Given the description of an element on the screen output the (x, y) to click on. 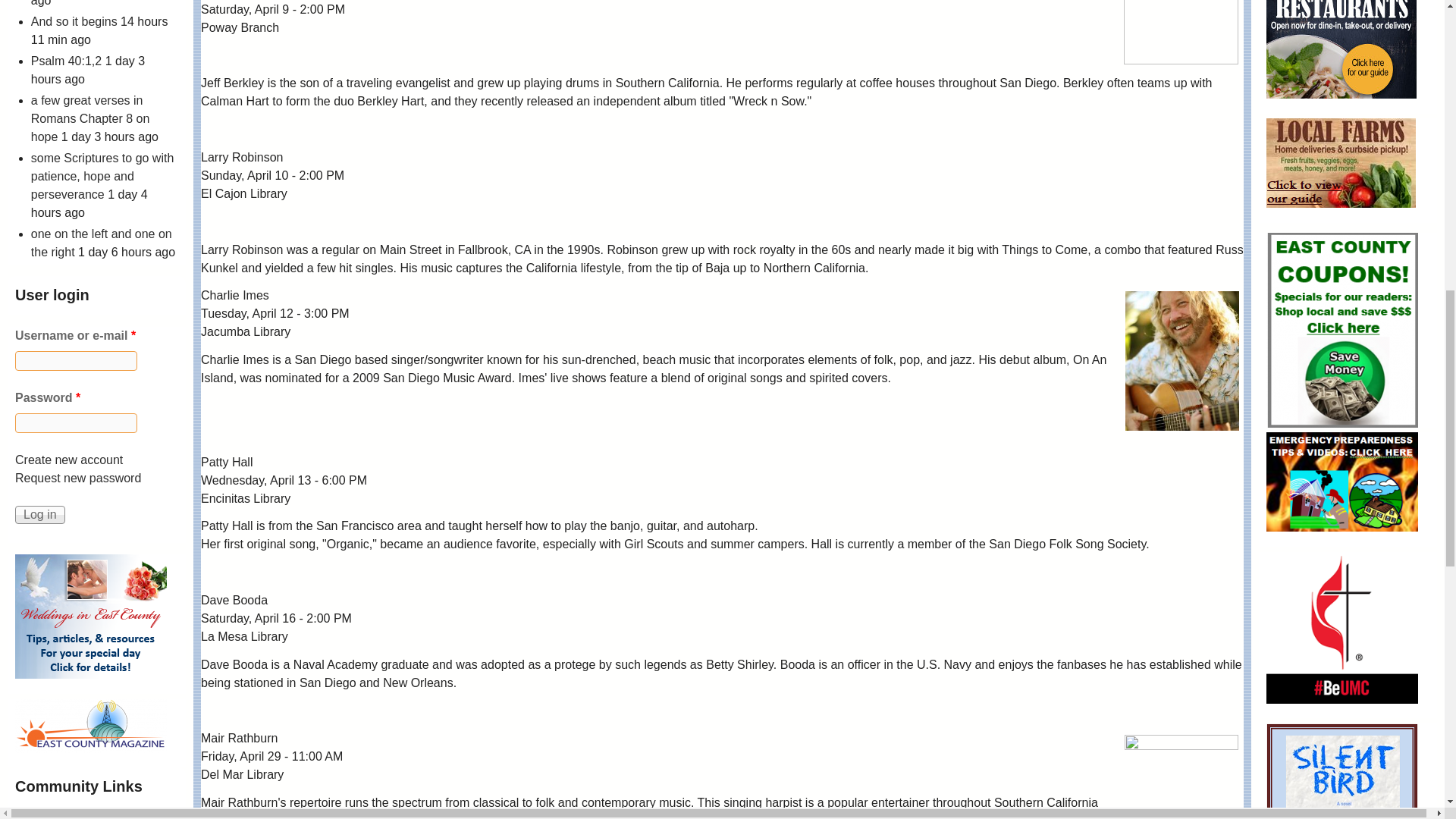
Log in (39, 515)
